Given the description of an element on the screen output the (x, y) to click on. 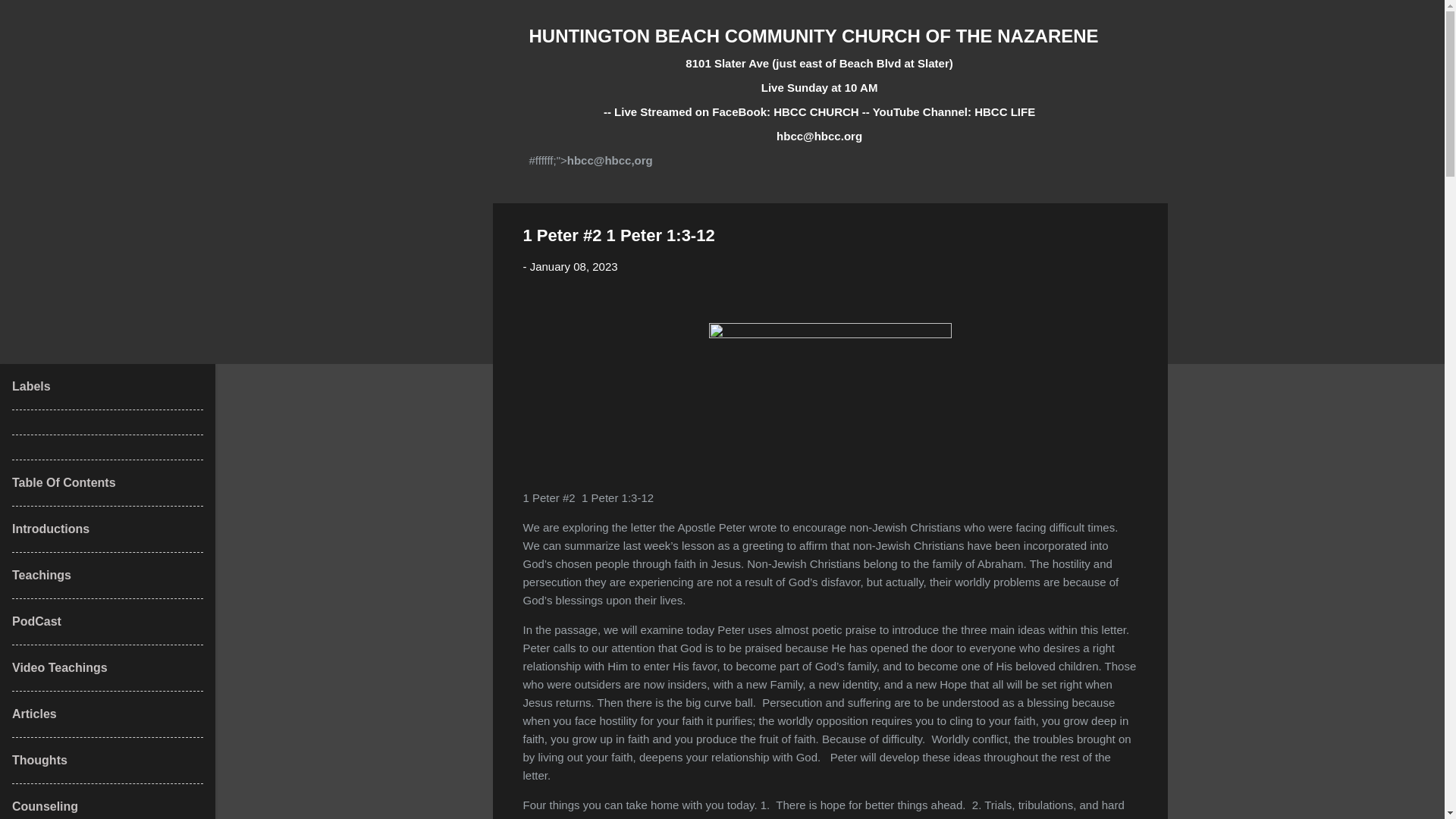
Search (29, 18)
January 08, 2023 (573, 266)
HUNTINGTON BEACH COMMUNITY CHURCH OF THE NAZARENE (814, 35)
permanent link (573, 266)
